Given the description of an element on the screen output the (x, y) to click on. 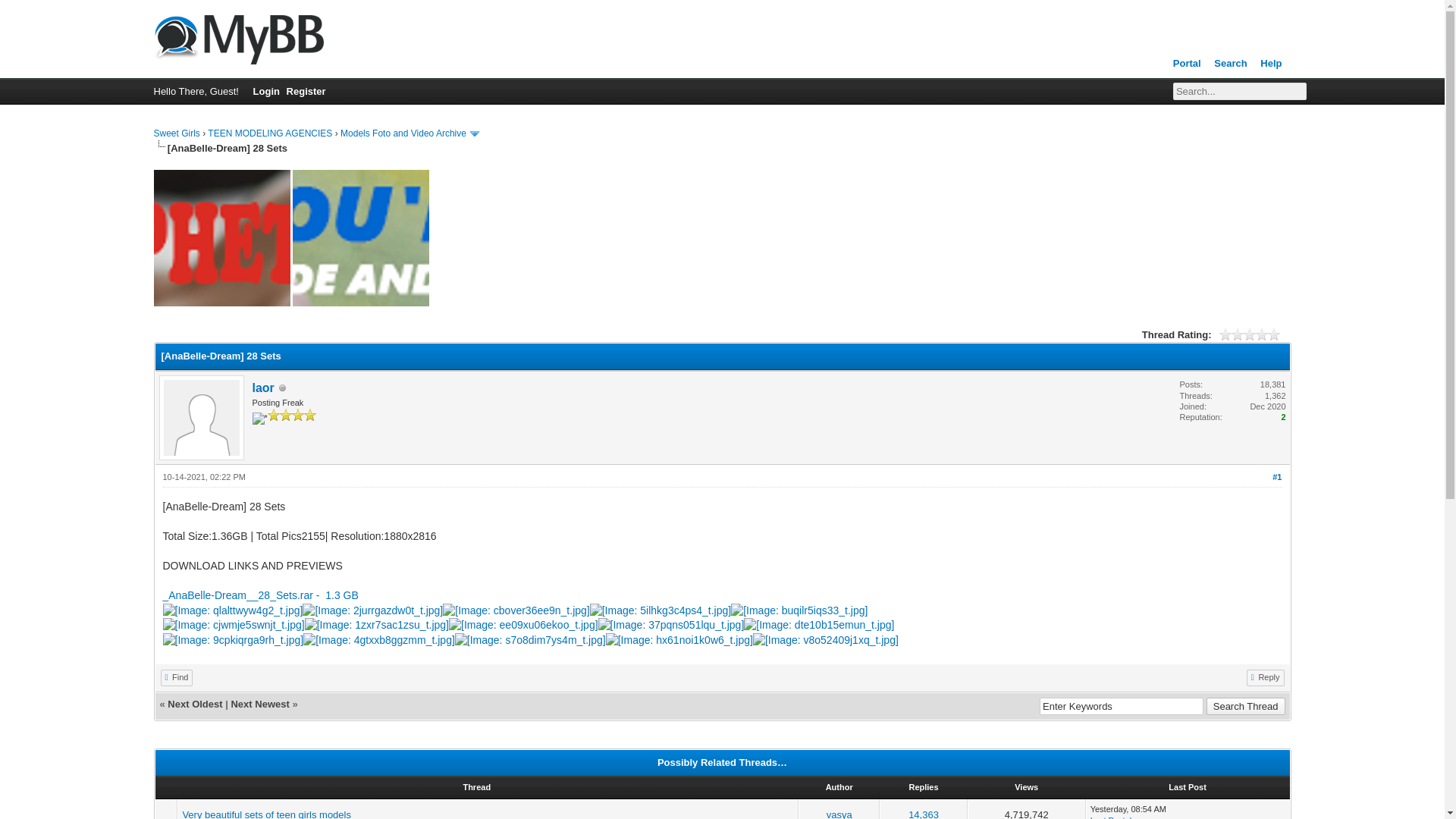
Next Oldest Element type: text (194, 703)
5 Element type: text (1249, 334)
_AnaBelle-Dream__28_Sets.rar -  1.3 GB Element type: text (259, 595)
Models Foto and Video Archive Element type: text (403, 133)
Offline Element type: hover (282, 388)
Find Element type: text (176, 677)
Reply Element type: text (1265, 677)
Sweet Girls Element type: text (176, 133)
4 Element type: text (1243, 334)
#1 Element type: text (1276, 476)
Register Element type: text (309, 91)
Help Element type: text (1270, 63)
Search Thread Element type: text (1245, 706)
2 Element type: text (1282, 416)
3 Element type: text (1237, 334)
Sweet Girls Element type: hover (238, 35)
1 Element type: text (1225, 334)
2 Element type: text (1231, 334)
Search Element type: text (1230, 63)
TEEN MODELING AGENCIES Element type: text (269, 133)
Next Newest Element type: text (259, 703)
Login Element type: text (262, 91)
laor Element type: text (262, 387)
Portal Element type: text (1187, 63)
